Given the description of an element on the screen output the (x, y) to click on. 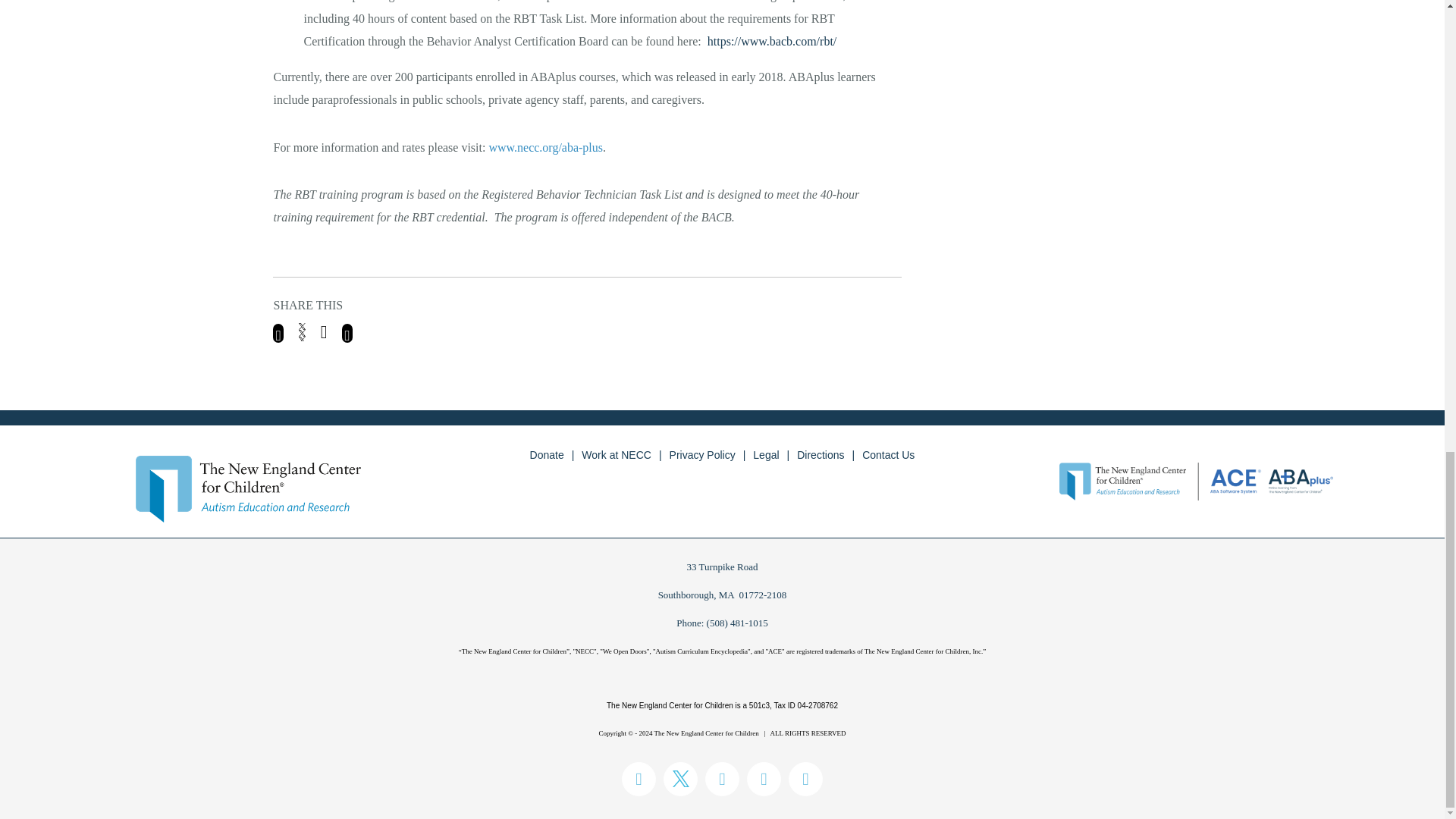
YouTube (805, 779)
Facebook (638, 779)
Instagram (763, 779)
SHARE THIS (587, 320)
Twitter (680, 779)
LinkedIn (721, 779)
